Given the description of an element on the screen output the (x, y) to click on. 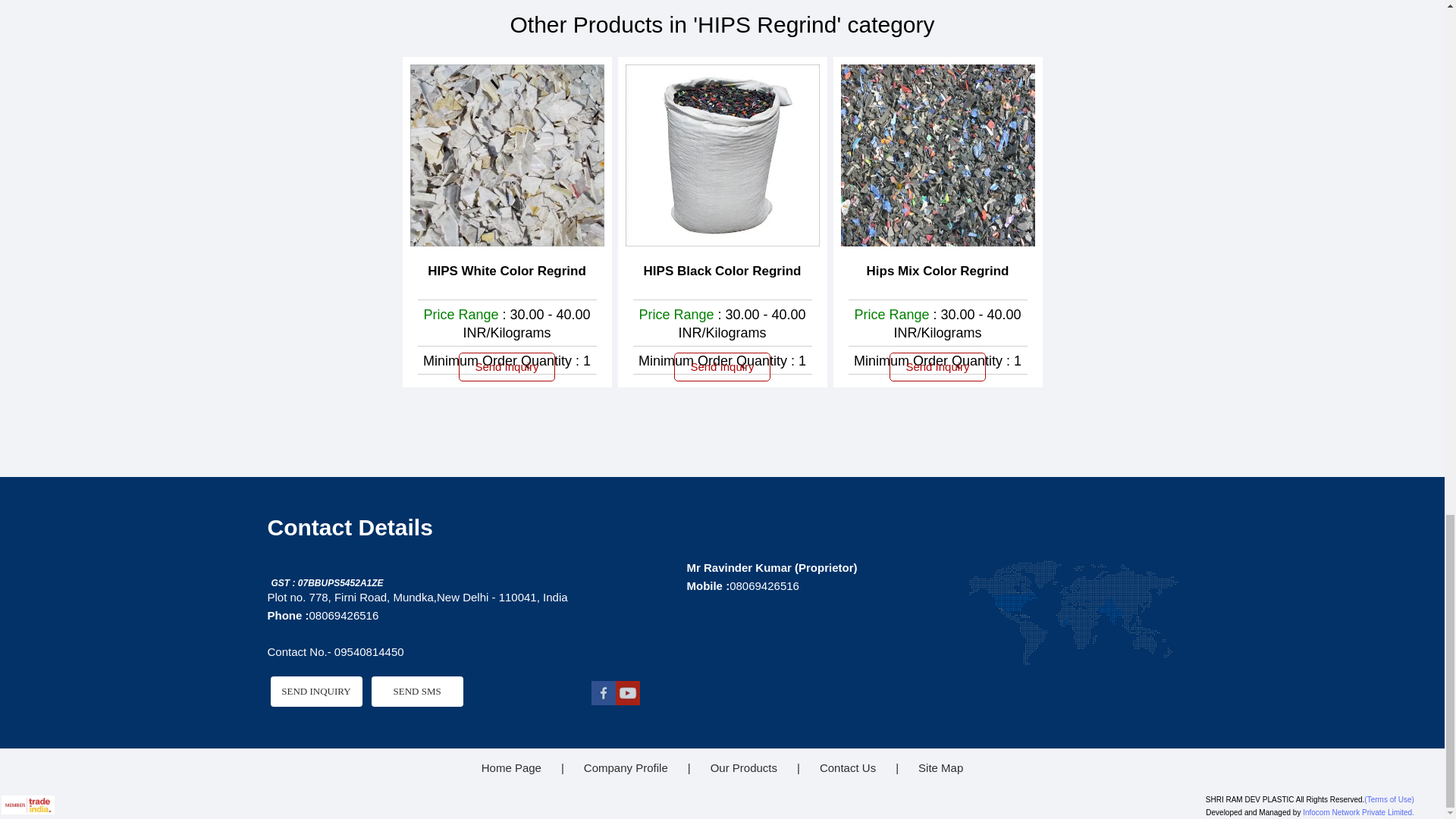
You Tube (627, 700)
Hips Mix Color Regrind (937, 271)
HIPS White Color Regrind (507, 271)
Send Inquiry (506, 366)
Send Inquiry (722, 366)
Send Inquiry (937, 366)
Facebook (603, 700)
HIPS Black Color Regrind (722, 271)
